Given the description of an element on the screen output the (x, y) to click on. 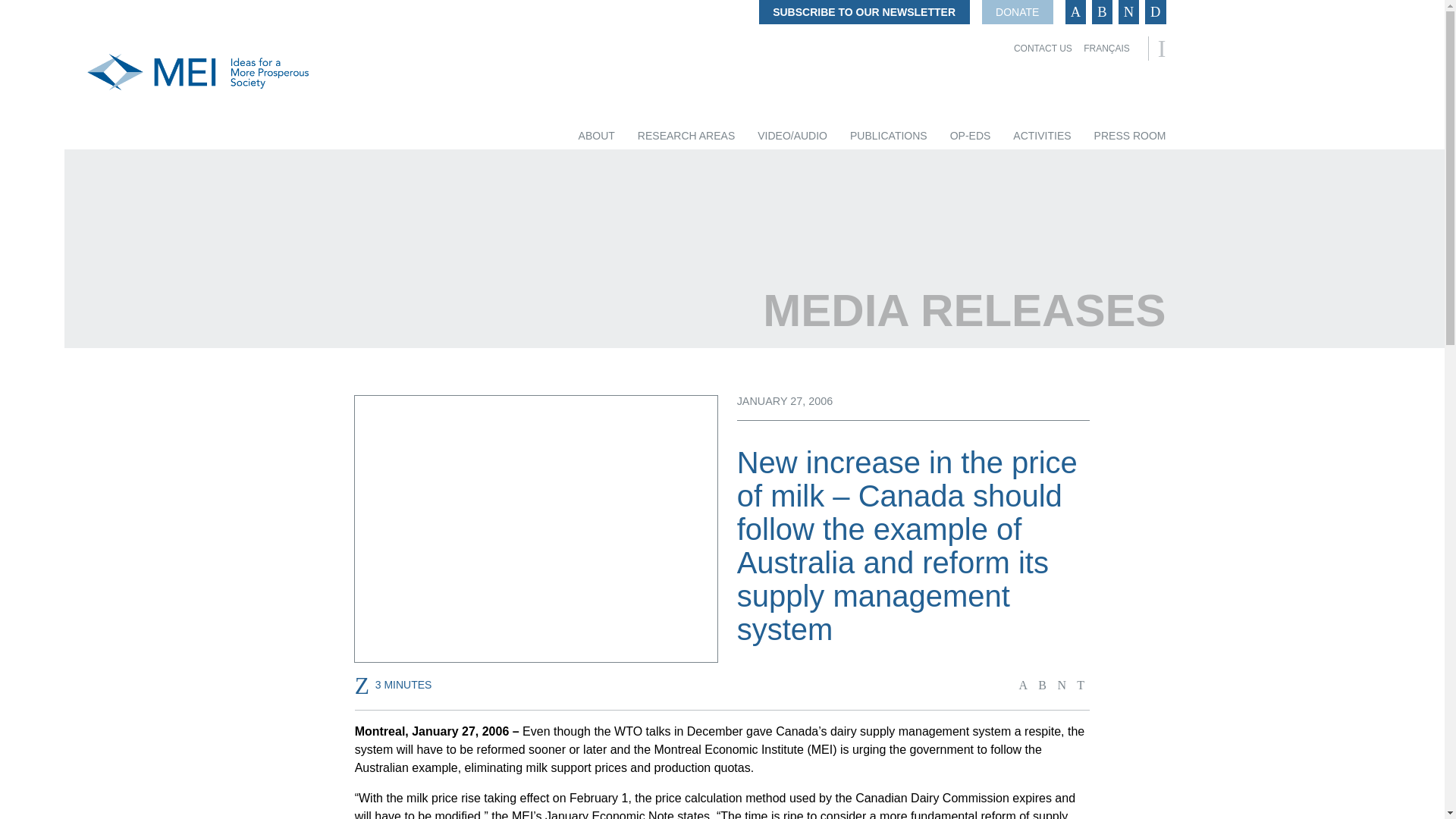
ABOUT (596, 135)
PUBLICATIONS (888, 135)
RESEARCH AREAS (686, 135)
